Given the description of an element on the screen output the (x, y) to click on. 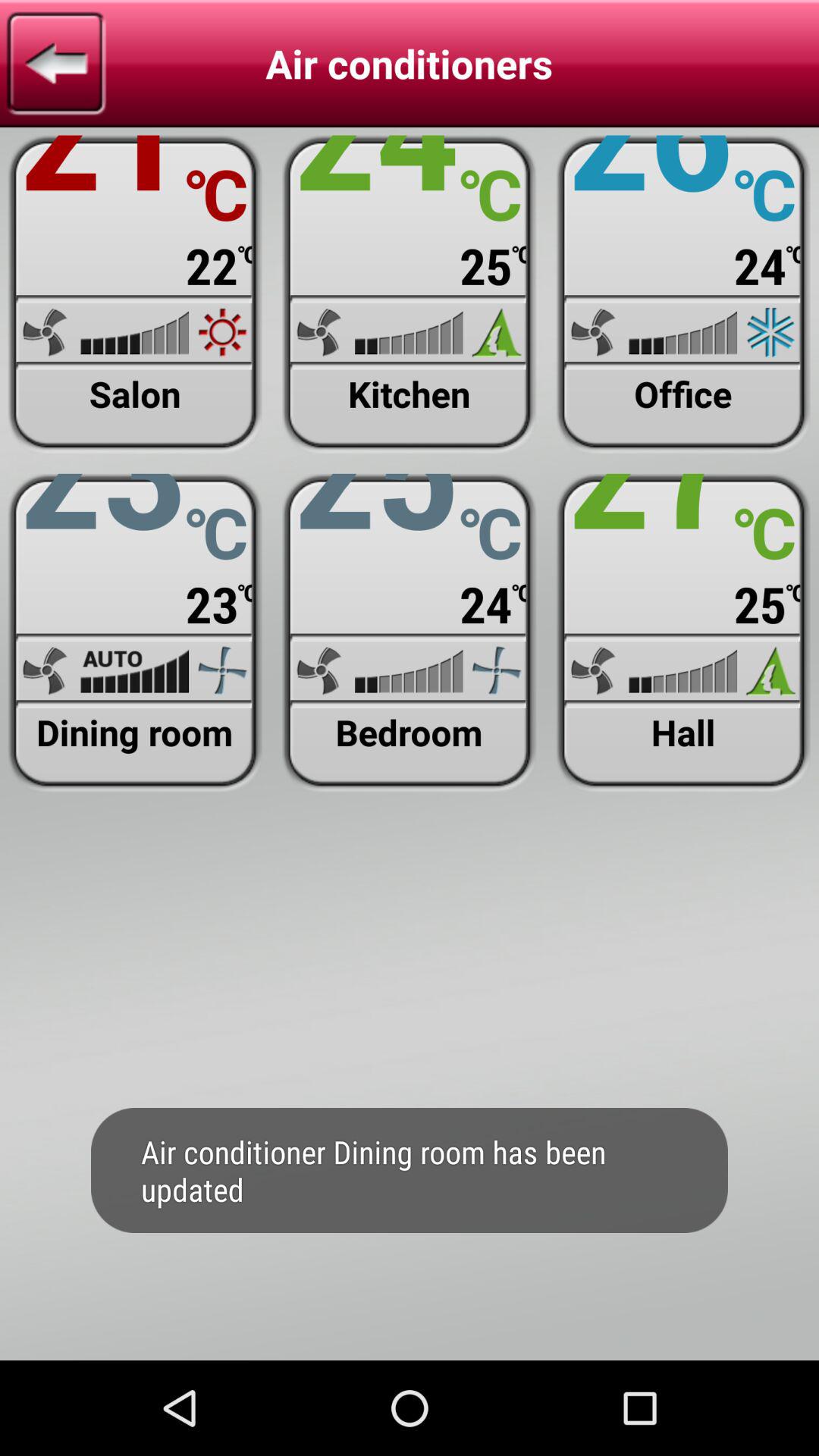
view/update kitchen air condition settings (409, 294)
